Given the description of an element on the screen output the (x, y) to click on. 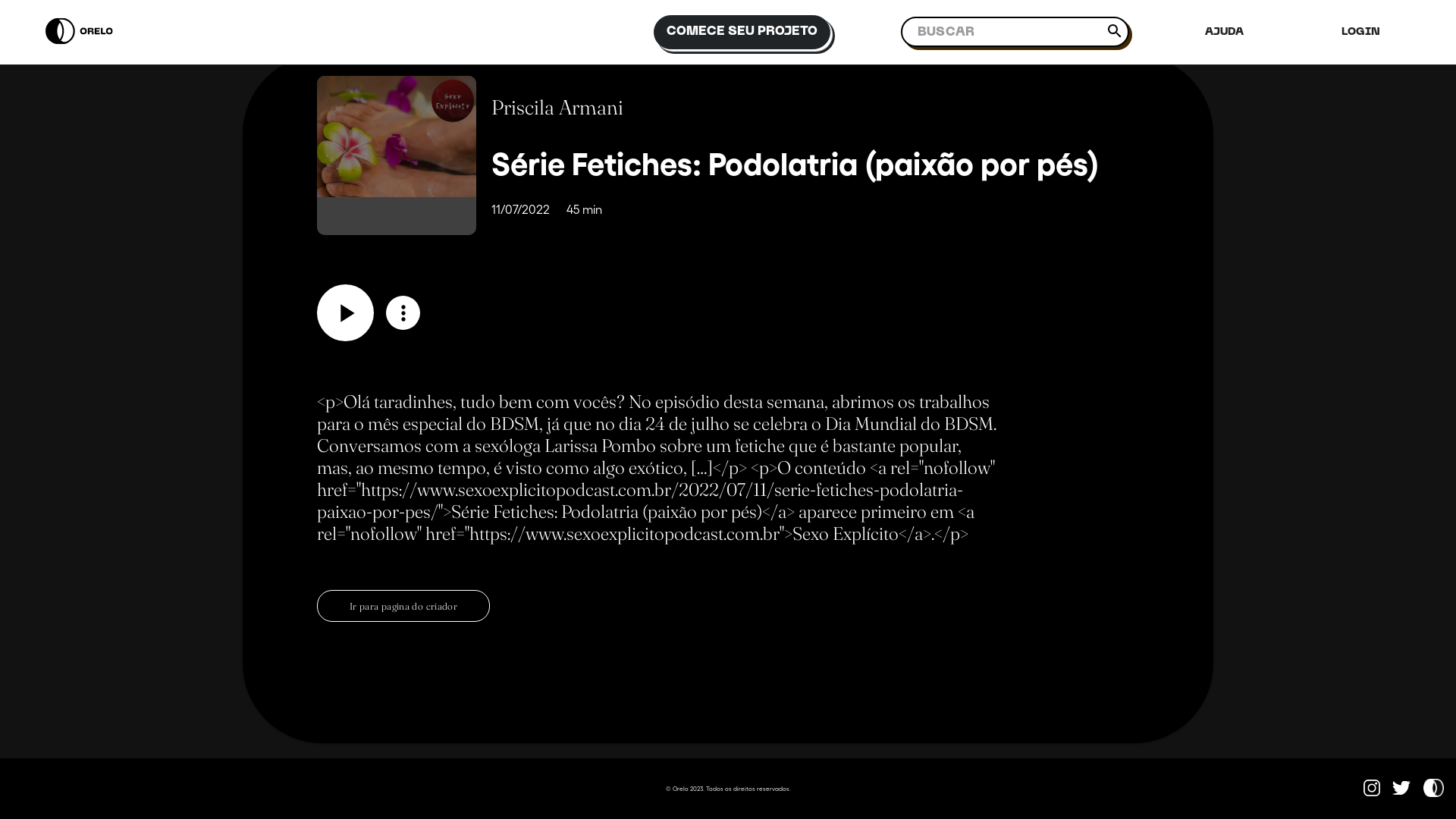
Ir para pagina do criador Element type: text (402, 605)
AJUDA Element type: text (1224, 32)
COMECE SEU PROJETO Element type: text (741, 32)
LOGIN Element type: text (1360, 32)
